Given the description of an element on the screen output the (x, y) to click on. 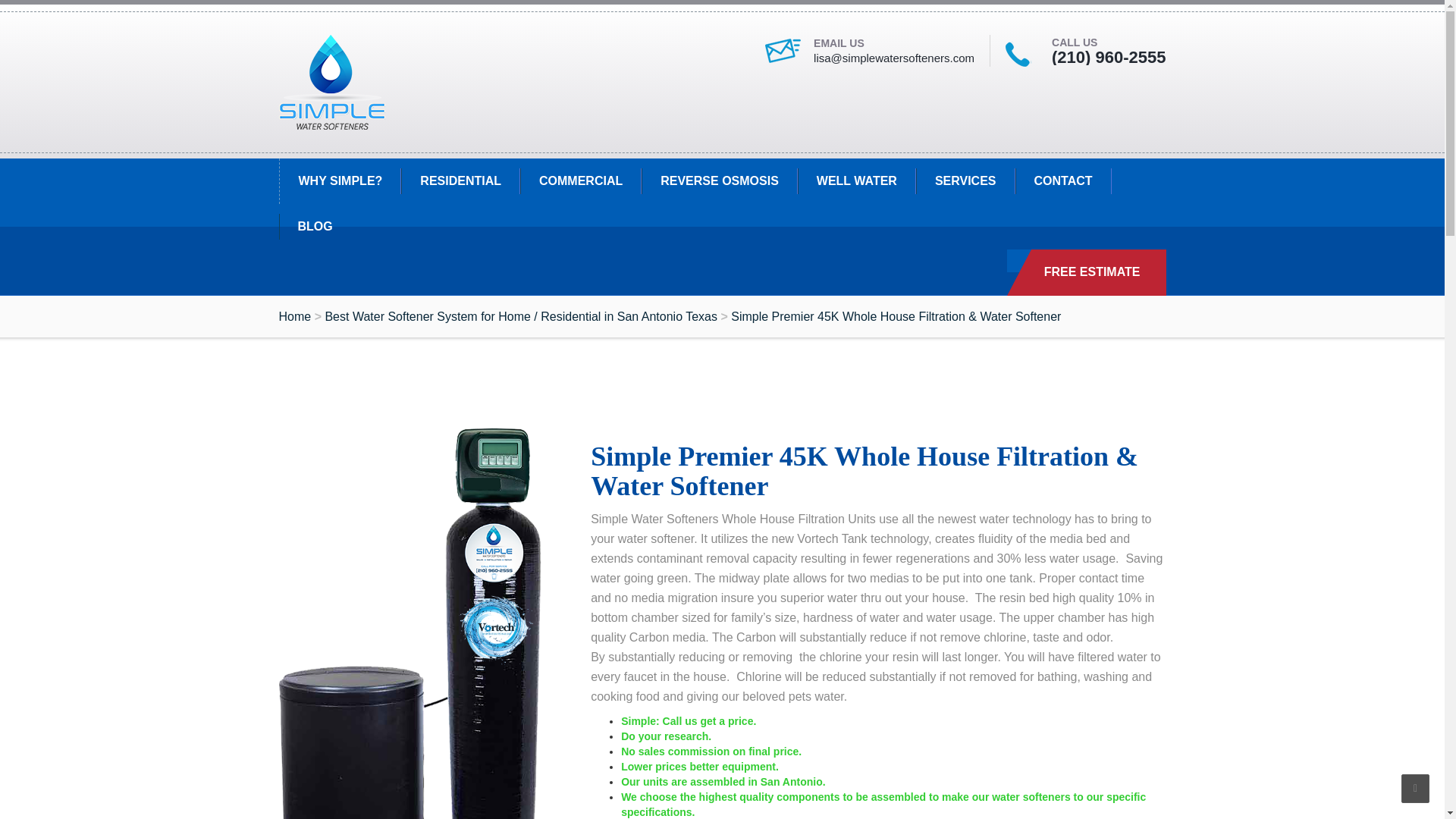
BLOG (315, 226)
CONTACT (1062, 180)
Go to Home. (295, 316)
WHY SIMPLE? (340, 180)
COMMERCIAL (580, 180)
REVERSE OSMOSIS (719, 180)
SERVICES (964, 180)
RESIDENTIAL (460, 180)
WELL WATER (856, 180)
Home (295, 316)
